Given the description of an element on the screen output the (x, y) to click on. 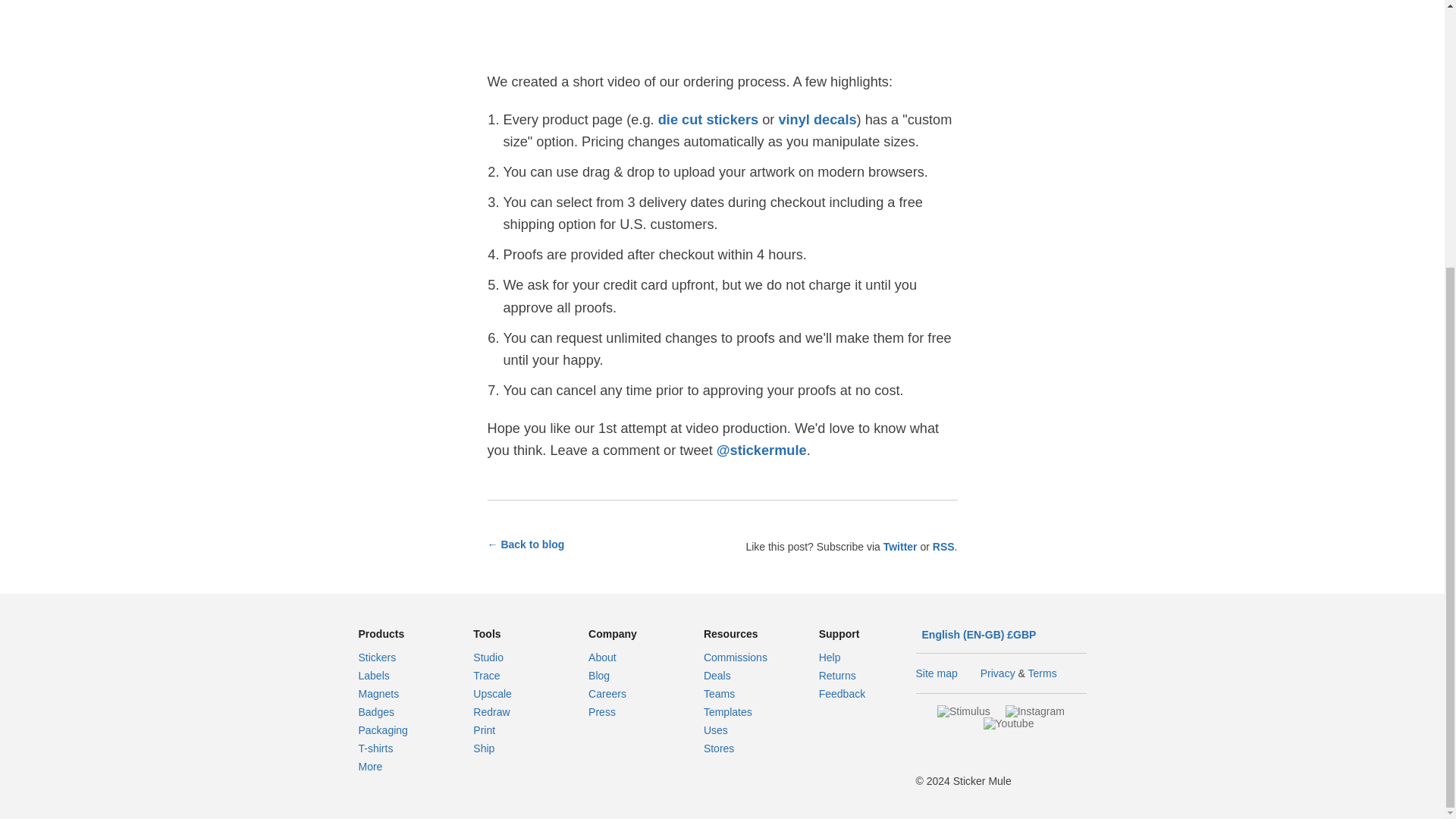
Subscribe via RSS (944, 546)
Follow us on Twitter (900, 546)
YouTube video player (721, 27)
